Given the description of an element on the screen output the (x, y) to click on. 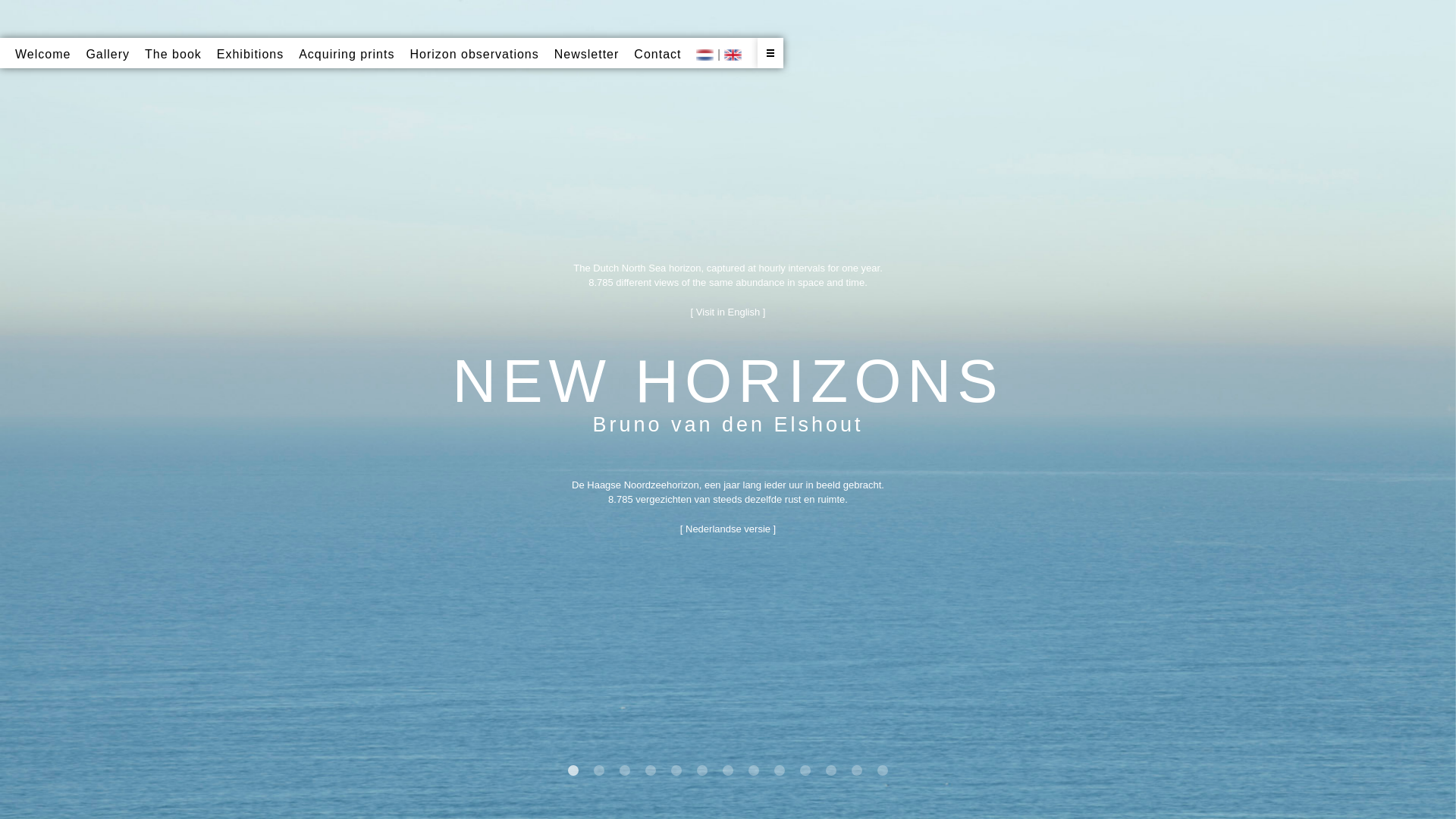
Newsletter Element type: text (586, 53)
9 Element type: text (779, 770)
Welcome Element type: text (42, 53)
Contact Element type: text (656, 53)
6 Element type: text (701, 770)
Horizon observations Element type: text (473, 53)
Acquiring prints Element type: text (346, 53)
Gallery Element type: text (107, 53)
The book Element type: text (172, 53)
8 Element type: text (753, 770)
3 Element type: text (624, 770)
Exhibitions Element type: text (249, 53)
7 Element type: text (727, 770)
13 Element type: text (882, 770)
NEW HORIZONS Element type: text (727, 380)
12 Element type: text (856, 770)
1 Element type: text (572, 770)
  Element type: text (770, 52)
2 Element type: text (598, 770)
Bruno van den Elshout Element type: text (727, 424)
11 Element type: text (830, 770)
5 Element type: text (676, 770)
10 Element type: text (805, 770)
4 Element type: text (650, 770)
